Given the description of an element on the screen output the (x, y) to click on. 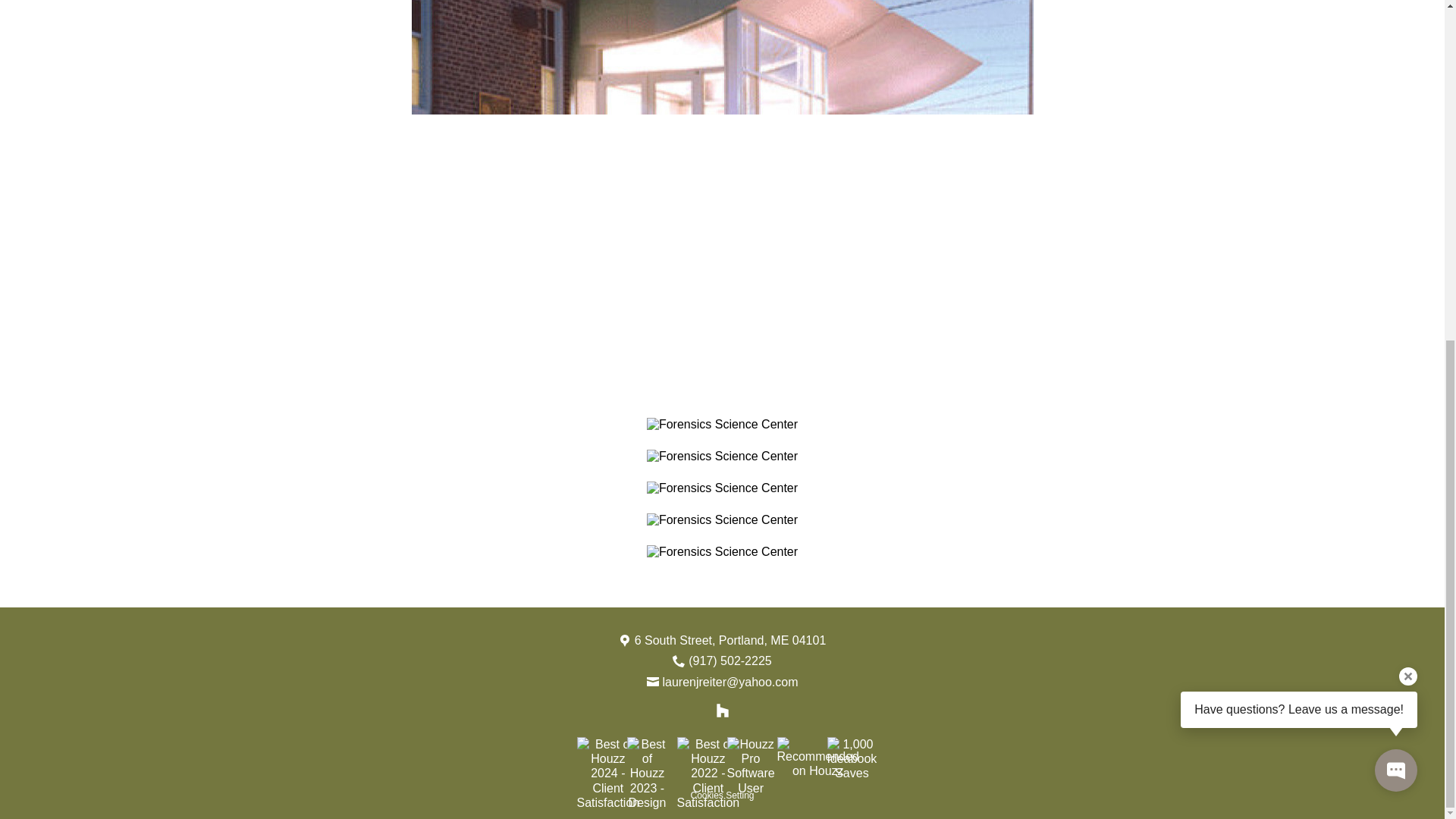
Cookies Setting (722, 795)
6 South Street, Portland, ME 04101 (730, 640)
Close tooltip (1407, 99)
